Given the description of an element on the screen output the (x, y) to click on. 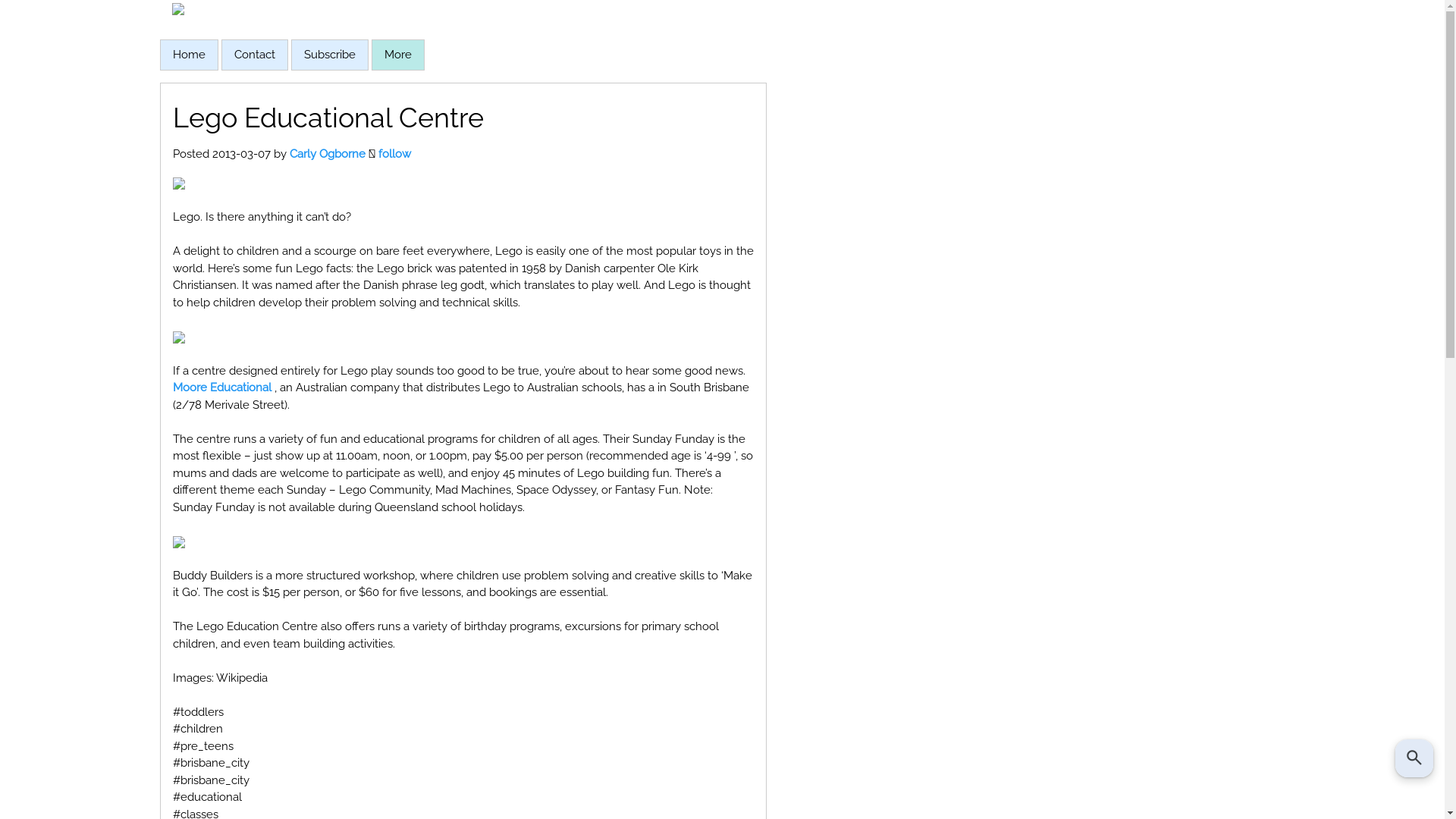
#children Element type: text (197, 728)
#pre_teens Element type: text (202, 746)
#brisbane_city Element type: text (210, 762)
Home Element type: text (188, 54)
Contact Element type: text (253, 54)
Moore Educational Element type: text (221, 387)
More Element type: text (397, 54)
#toddlers Element type: text (197, 711)
follow Element type: text (393, 153)
#educational Element type: text (206, 796)
#brisbane_city Element type: text (210, 780)
Carly Ogborne Element type: text (327, 153)
Subscribe Element type: text (328, 54)
